Given the description of an element on the screen output the (x, y) to click on. 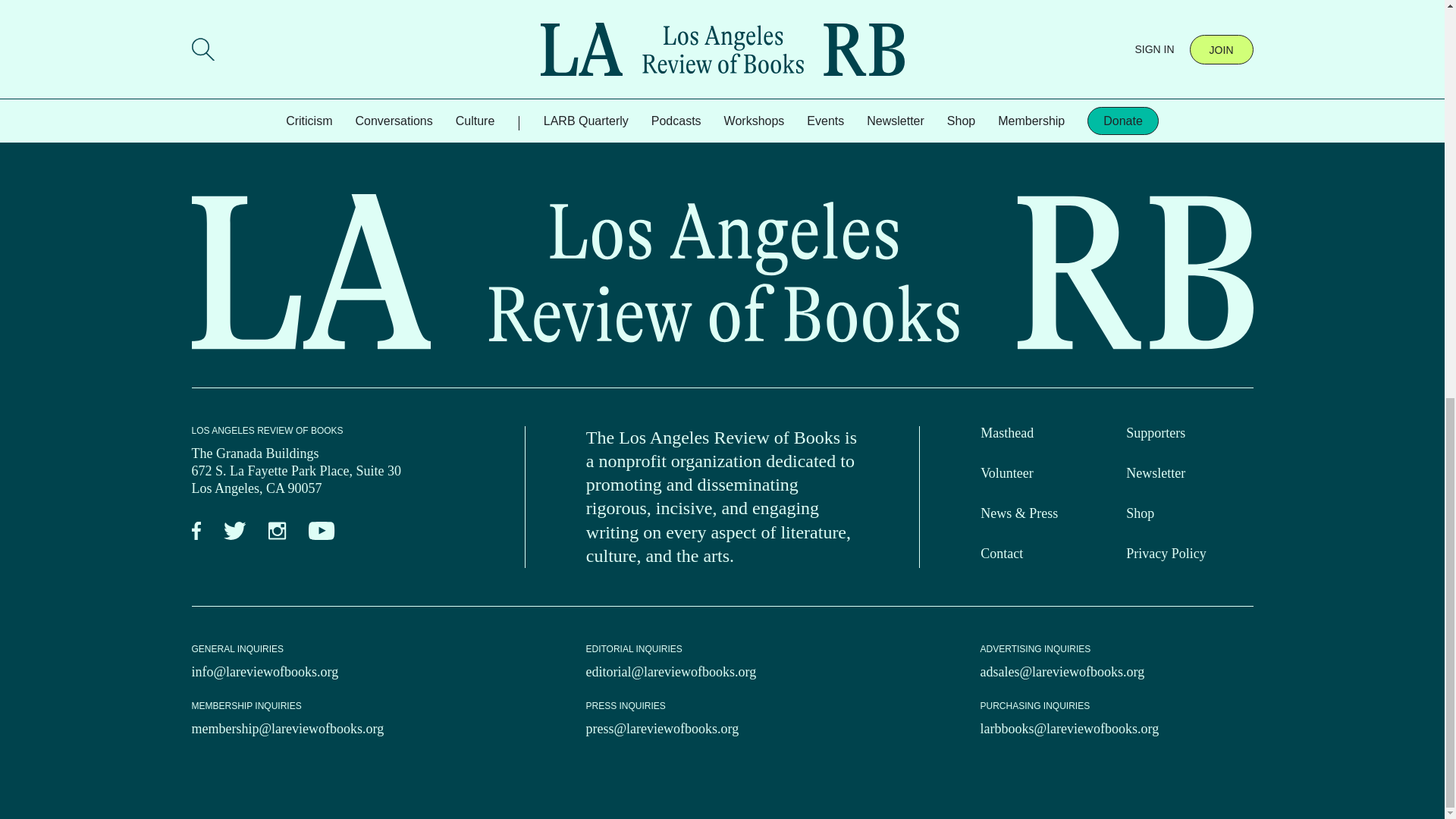
MUSIC (268, 102)
Newsletter (1155, 473)
Contact (1001, 553)
Supporters (1155, 432)
Masthead (1006, 432)
HISTORY (215, 102)
JACQUES MOREL (230, 78)
YouTube (321, 531)
Privacy Policy (1166, 553)
Shop (1139, 513)
Volunteer (1006, 473)
